Given the description of an element on the screen output the (x, y) to click on. 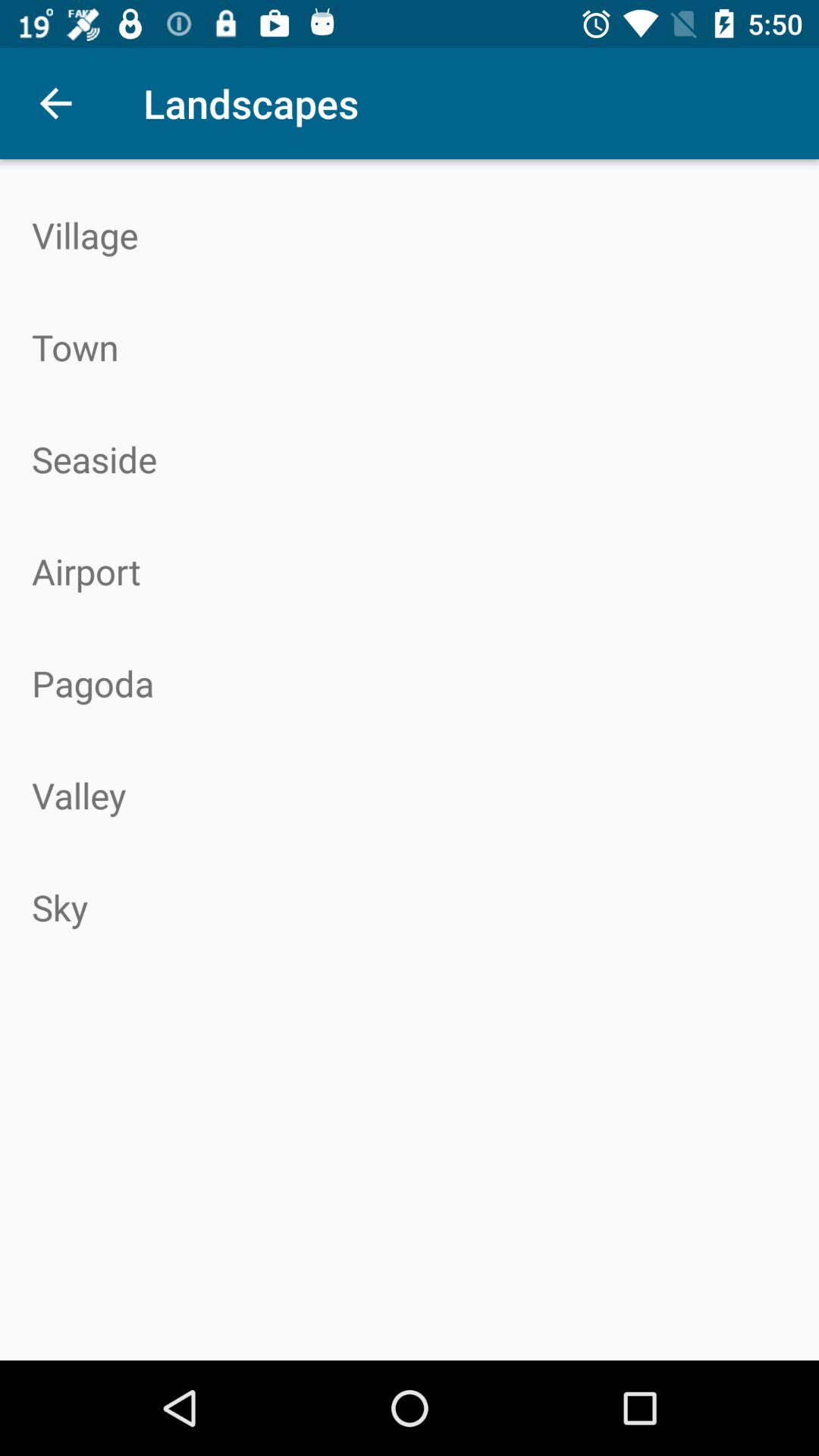
press item to the left of the landscapes (55, 103)
